Given the description of an element on the screen output the (x, y) to click on. 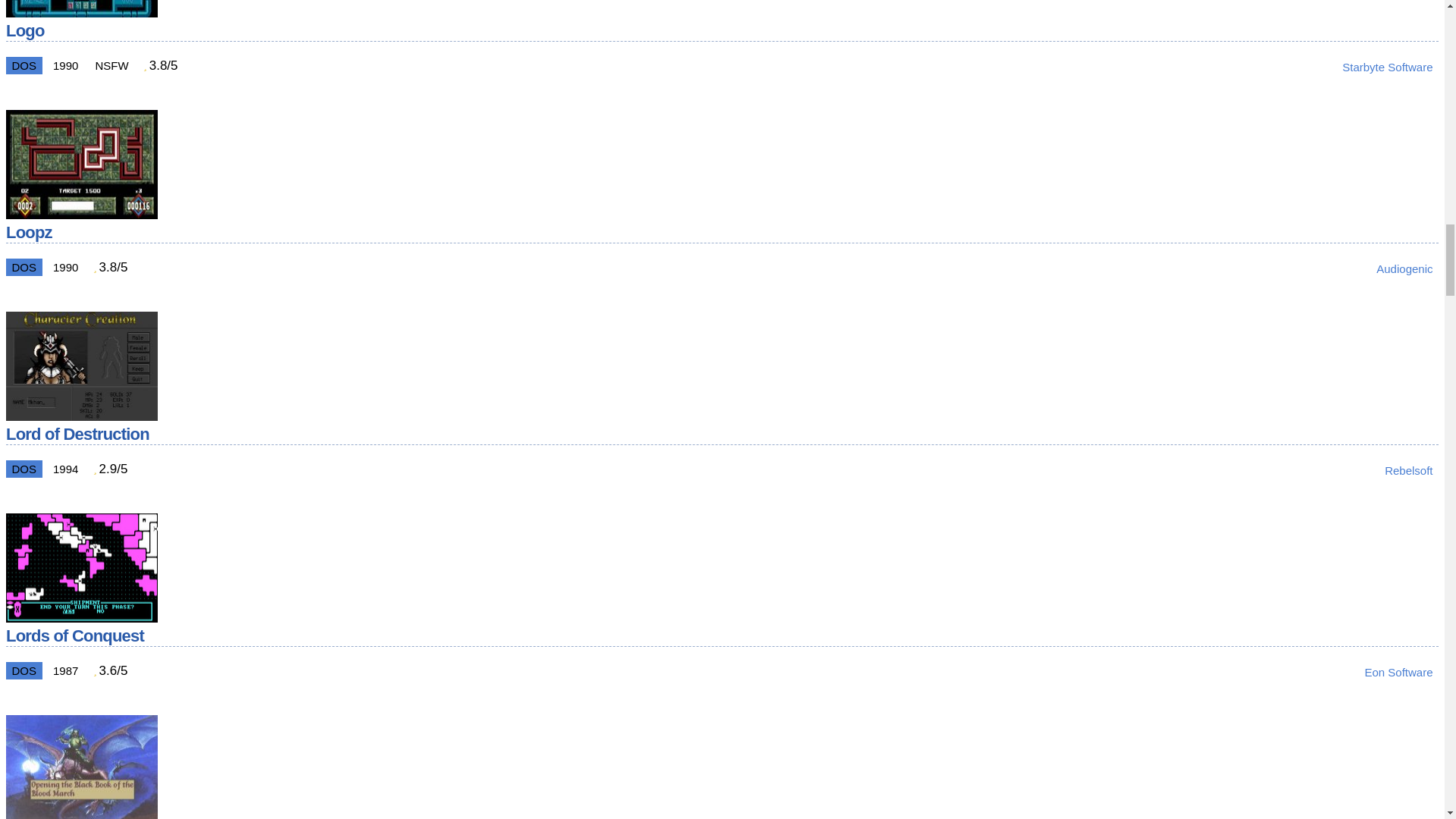
Loopz (81, 214)
Lord of Destruction (81, 416)
Logo (81, 12)
Lords of Conquest (81, 617)
Lords of Midnight: The Citadel (81, 816)
